Given the description of an element on the screen output the (x, y) to click on. 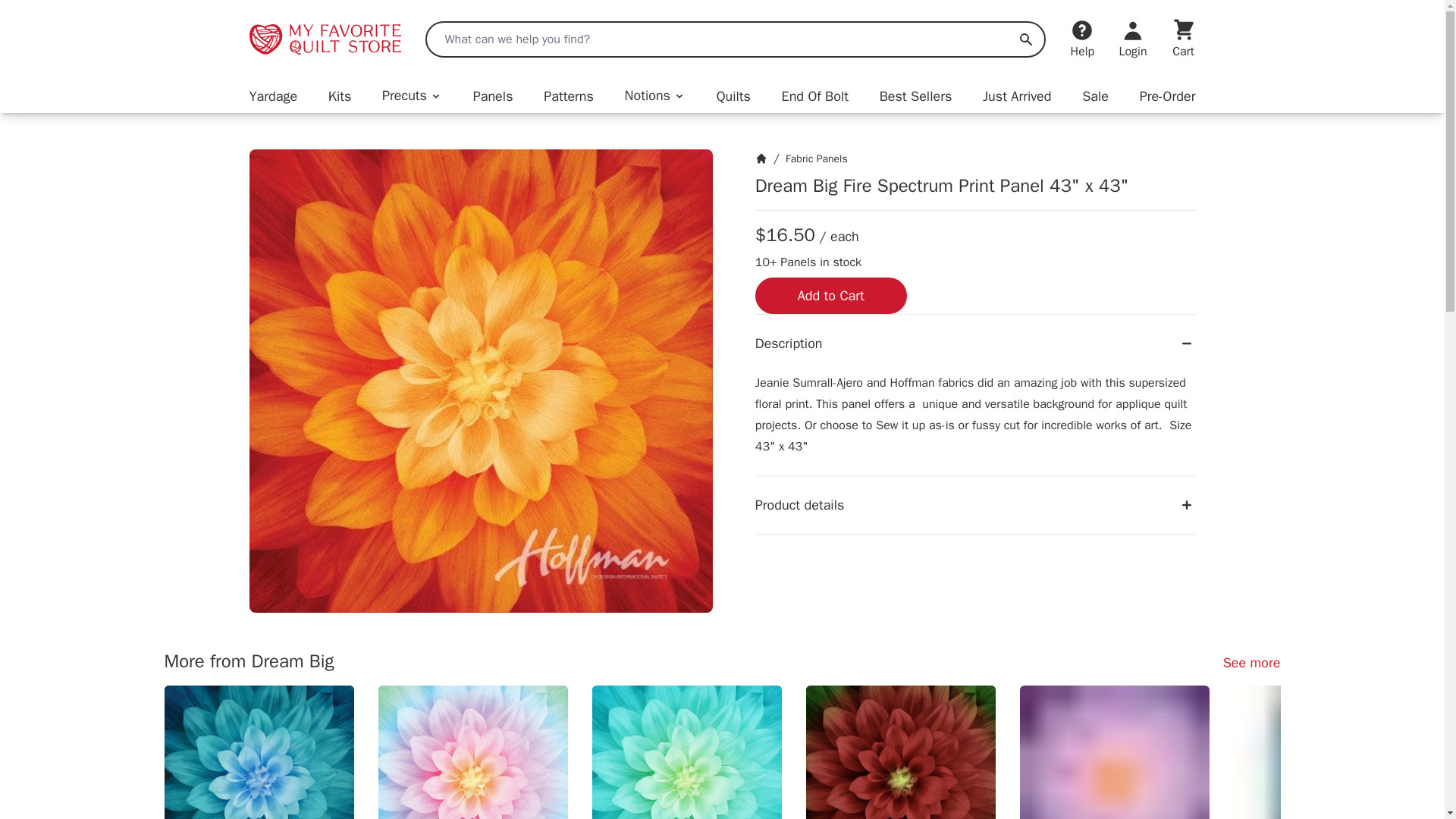
Add to Cart (831, 295)
Precuts (411, 96)
Fabric Panels (816, 157)
Panels (493, 95)
Description (975, 343)
Best Sellers (915, 95)
Notions (654, 96)
Quilts (733, 95)
Sale (1094, 95)
Just Arrived (1016, 95)
